Given the description of an element on the screen output the (x, y) to click on. 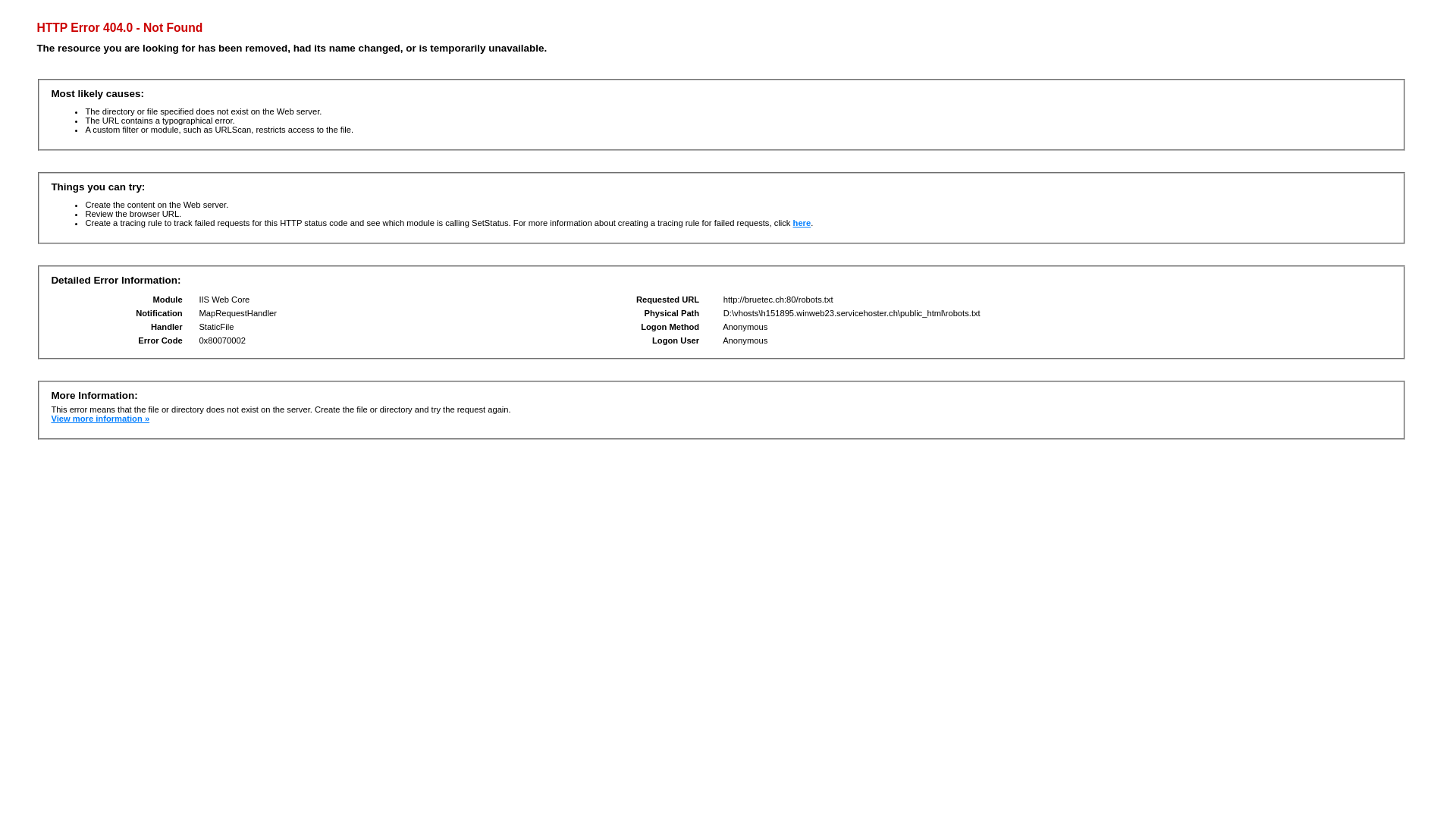
here Element type: text (802, 222)
